Given the description of an element on the screen output the (x, y) to click on. 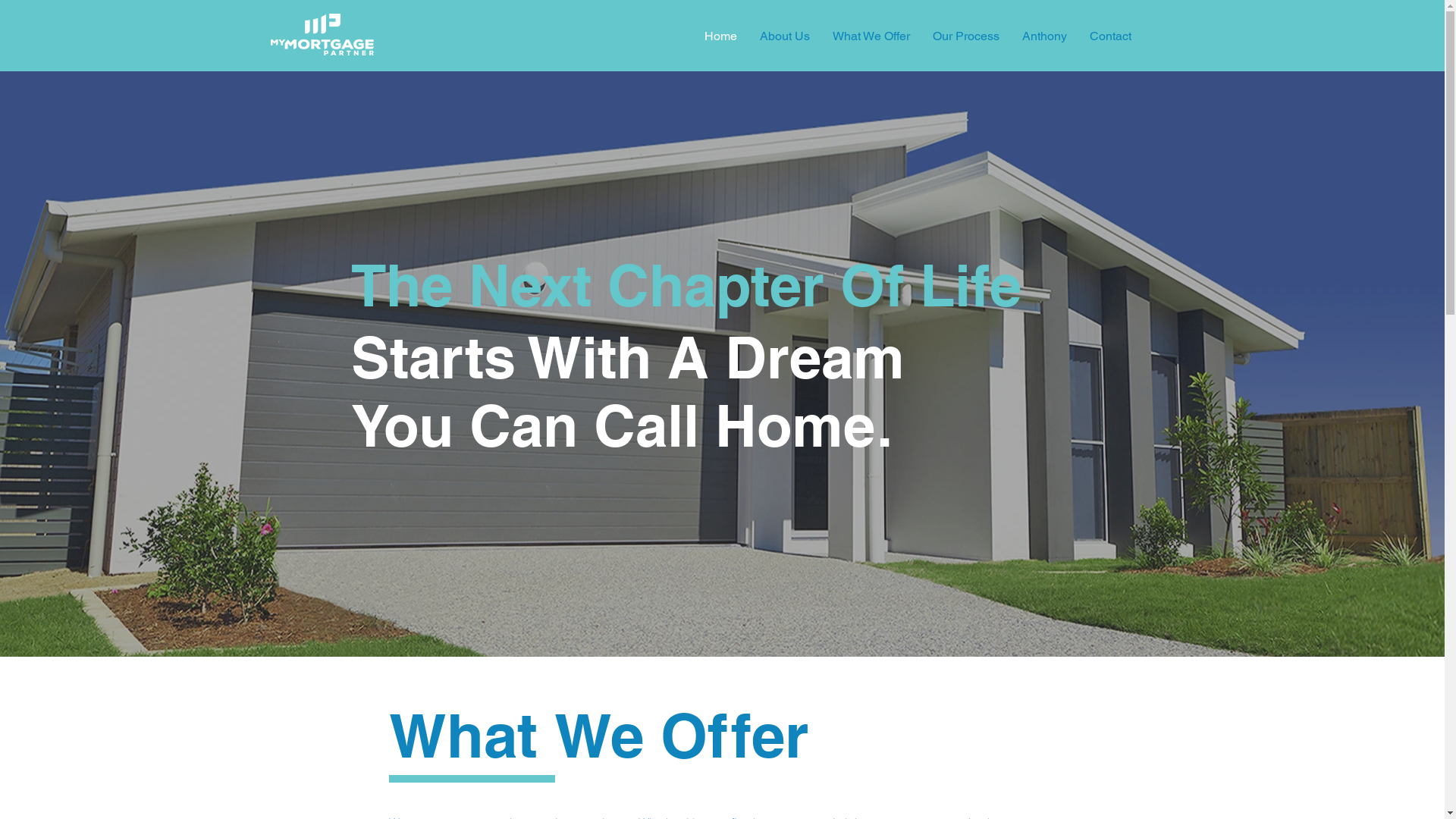
Our Process Element type: text (965, 36)
Home Element type: text (720, 36)
Contact Element type: text (1110, 36)
Anthony Element type: text (1043, 36)
About Us Element type: text (783, 36)
What We Offer Element type: text (870, 36)
